Given the description of an element on the screen output the (x, y) to click on. 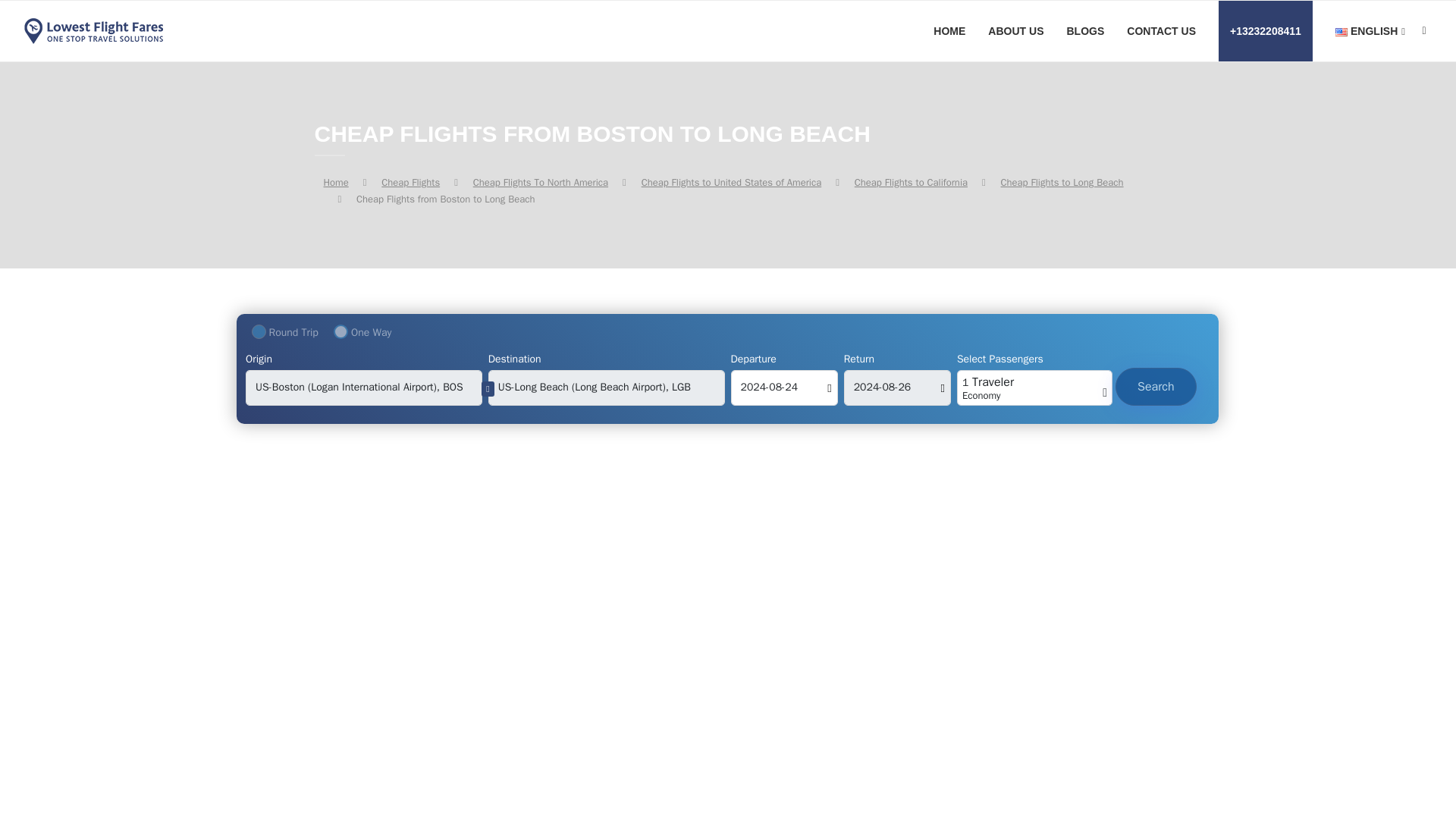
ABOUT US (1015, 30)
ENGLISH (1370, 31)
round (258, 331)
Cheap Flights (410, 182)
Cheap Flights to United States of America (732, 182)
Search (1155, 386)
2024-08-24 (784, 387)
Cheap Flights to Long Beach (1062, 182)
2024-08-26 (897, 387)
Cheap Flights to California (911, 182)
